Given the description of an element on the screen output the (x, y) to click on. 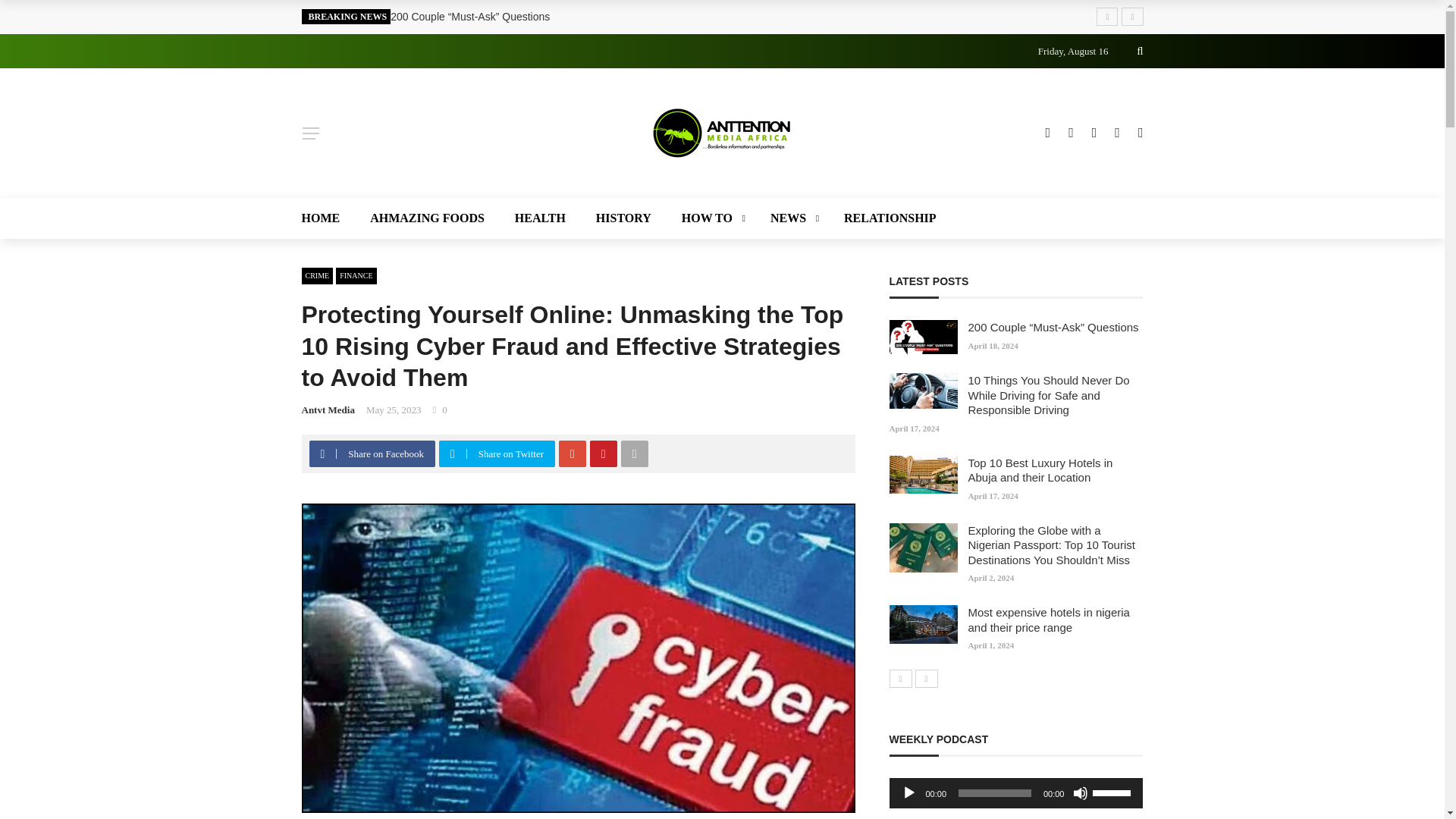
NEWS (791, 218)
HISTORY (623, 218)
HEALTH (539, 218)
HOME (328, 218)
RELATIONSHIP (882, 218)
HOW TO (710, 218)
AHMAZING FOODS (427, 218)
